Given the description of an element on the screen output the (x, y) to click on. 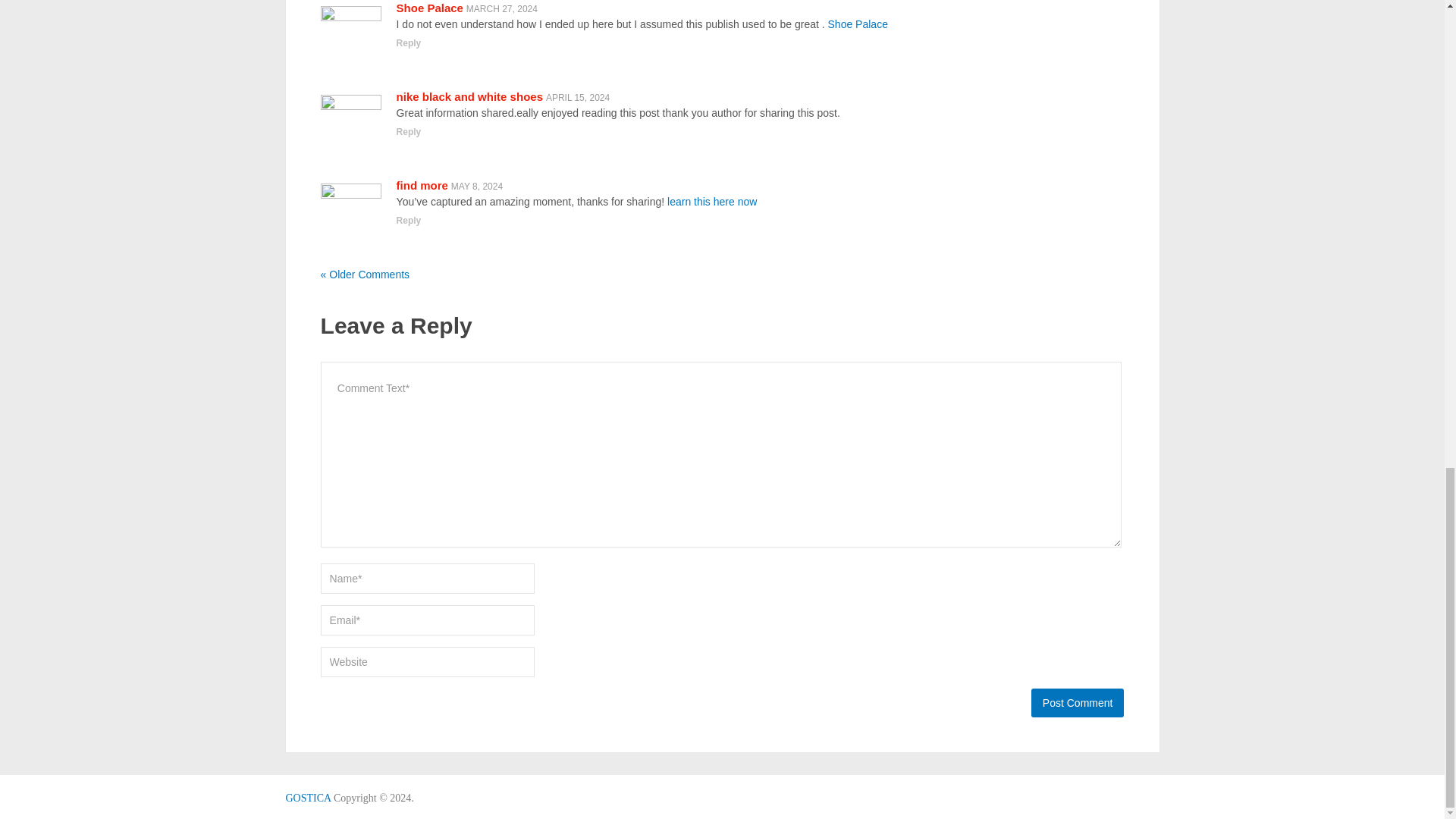
Shoe Palace (429, 7)
Post Comment (1077, 702)
 The Spiritual Path (307, 797)
Reply (409, 42)
Shoe Palace (858, 24)
nike black and white shoes (469, 96)
